Given the description of an element on the screen output the (x, y) to click on. 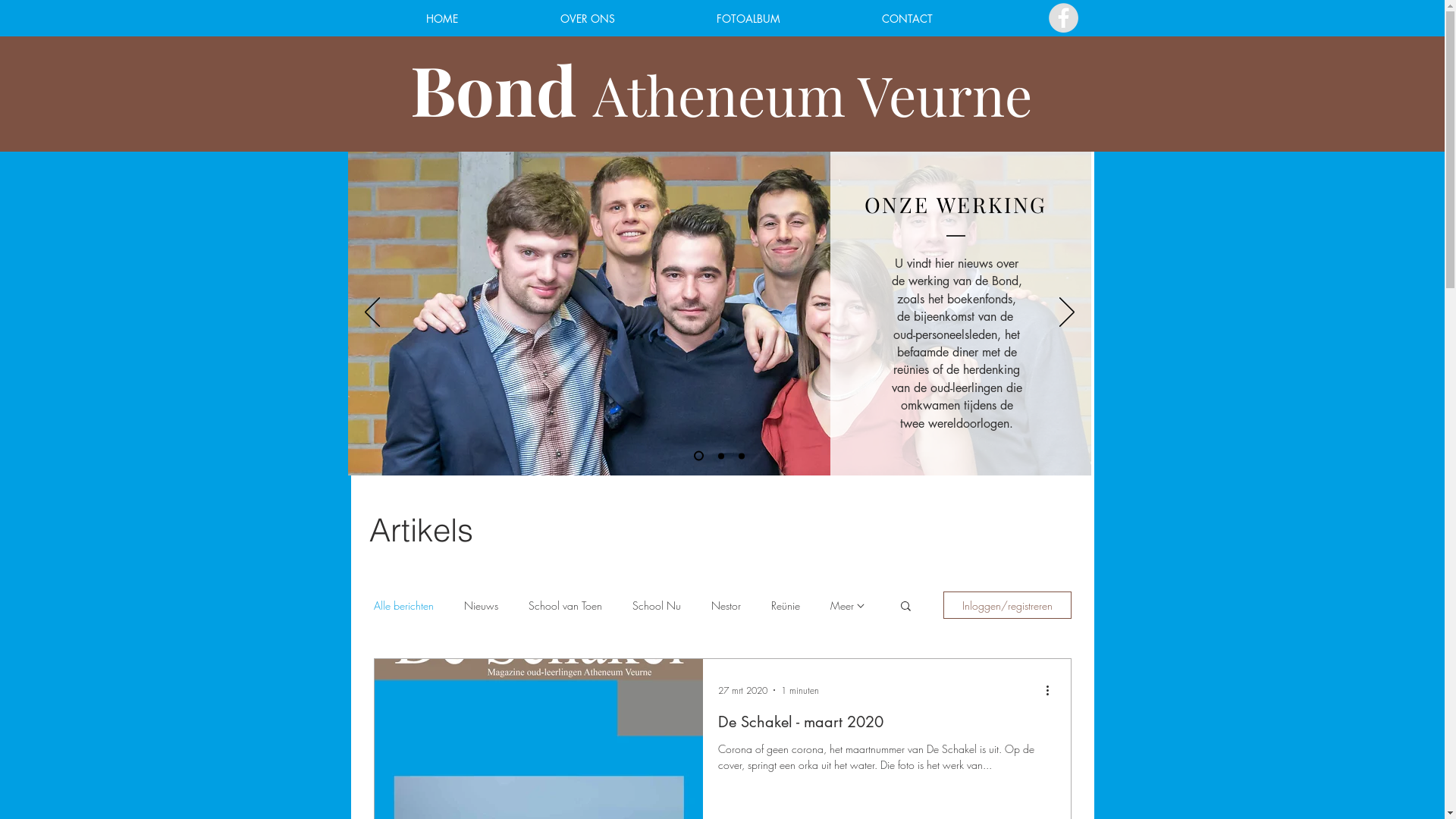
Alle berichten Element type: text (403, 604)
School Nu Element type: text (656, 604)
School van Toen Element type: text (564, 604)
Nieuws Element type: text (481, 604)
Inloggen/registreren Element type: text (1007, 604)
HOME Element type: text (441, 18)
Nestor Element type: text (725, 604)
CONTACT Element type: text (907, 18)
De Schakel - maart 2020 Element type: text (885, 726)
